Given the description of an element on the screen output the (x, y) to click on. 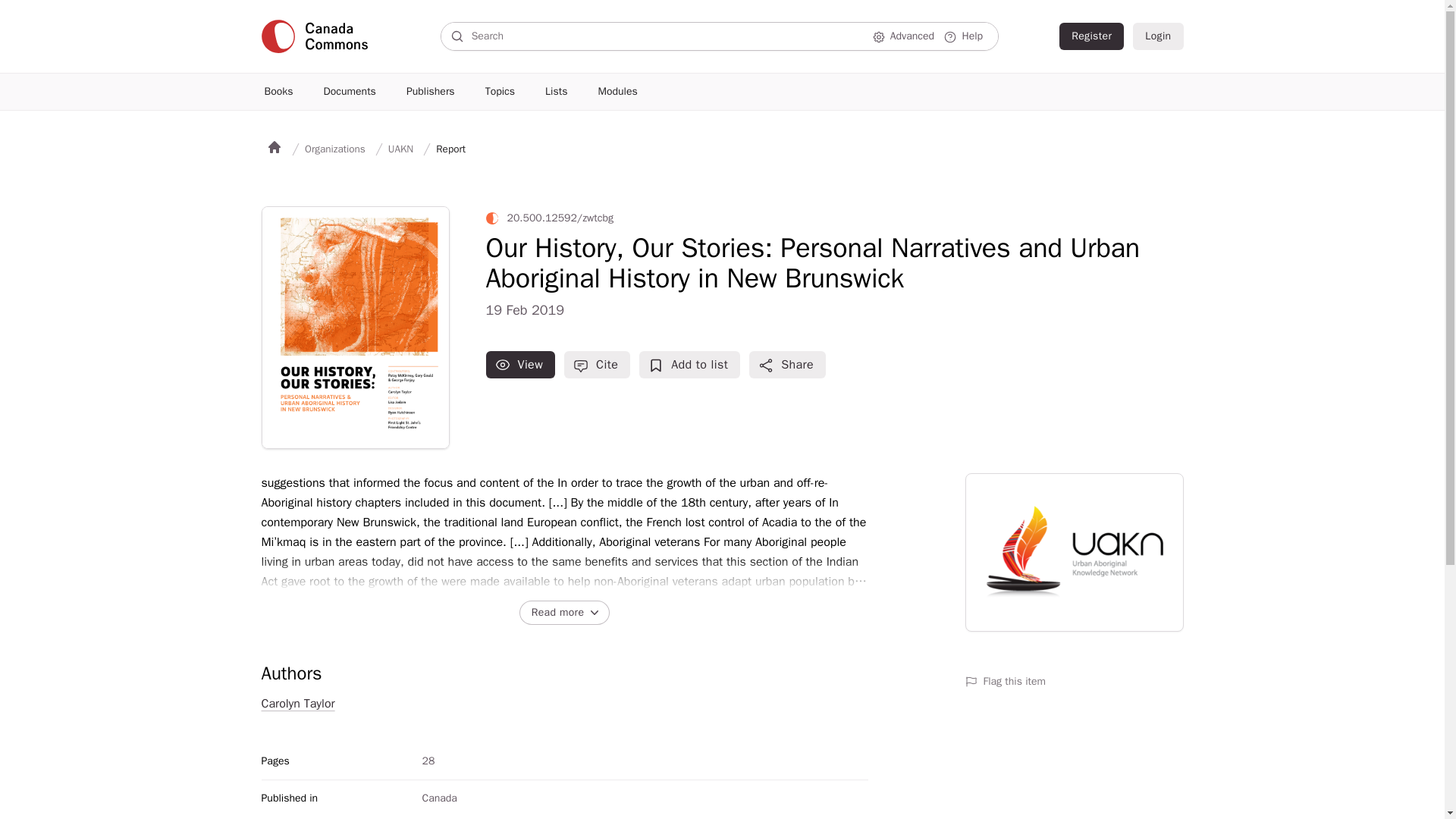
Register (1091, 35)
Home (274, 149)
UAKN (400, 149)
Topics (500, 91)
Help (964, 36)
Advanced (904, 36)
Add to list (689, 364)
Read more (564, 612)
Flag this item (1072, 681)
Publishers (430, 91)
Login (1157, 35)
View (521, 364)
Modules (617, 91)
Documents (349, 91)
Cite (597, 364)
